Given the description of an element on the screen output the (x, y) to click on. 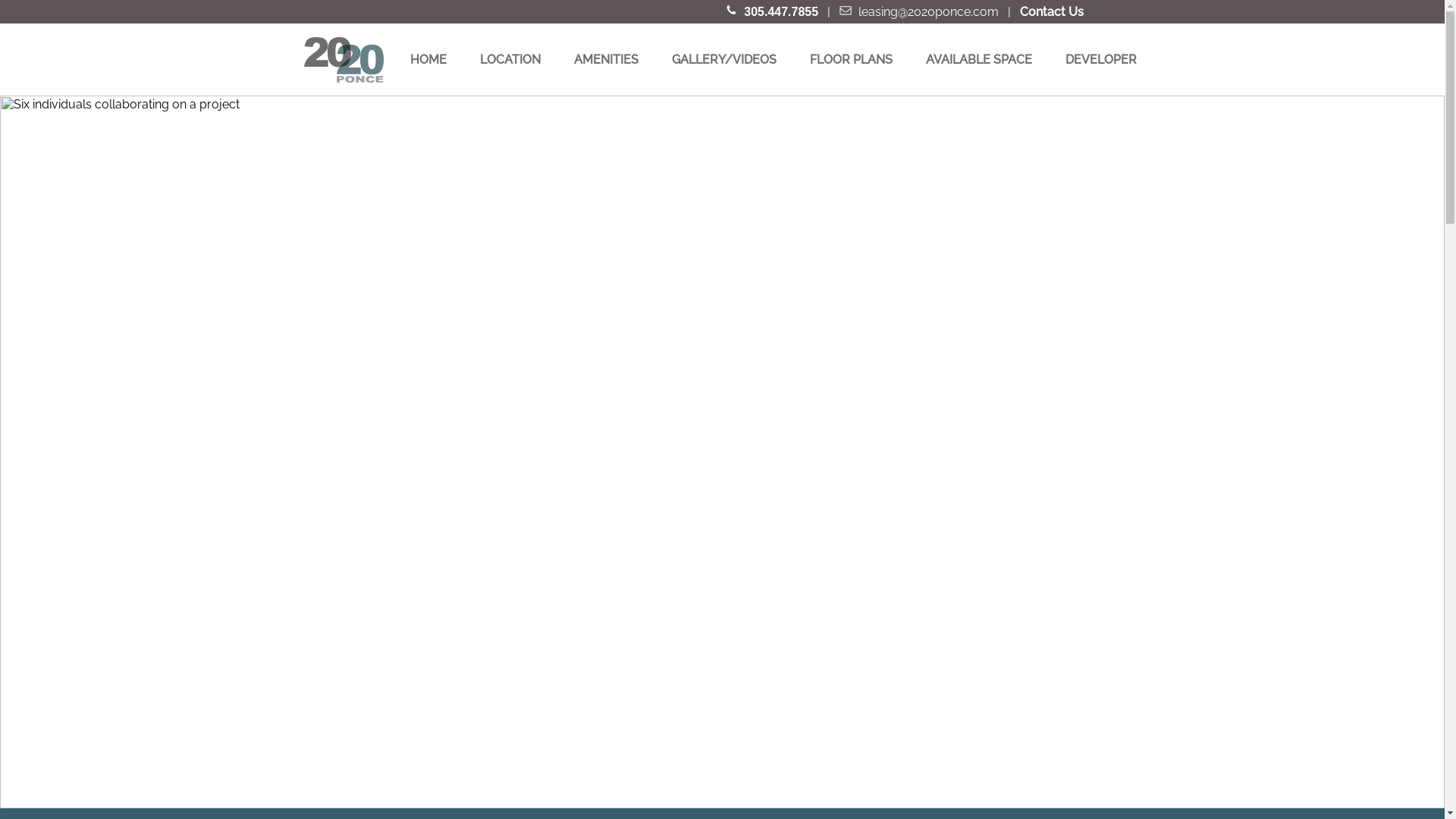
AMENITIES Element type: text (606, 59)
HOME Element type: text (428, 59)
LOCATION Element type: text (510, 59)
DEVELOPER Element type: text (1100, 59)
FLOOR PLANS Element type: text (850, 59)
305.447.7855 Element type: text (780, 11)
GALLERY/VIDEOS Element type: text (723, 59)
AVAILABLE SPACE Element type: text (978, 59)
Contact Us Element type: text (1051, 11)
leasing@2020ponce.com Element type: text (929, 11)
